Given the description of an element on the screen output the (x, y) to click on. 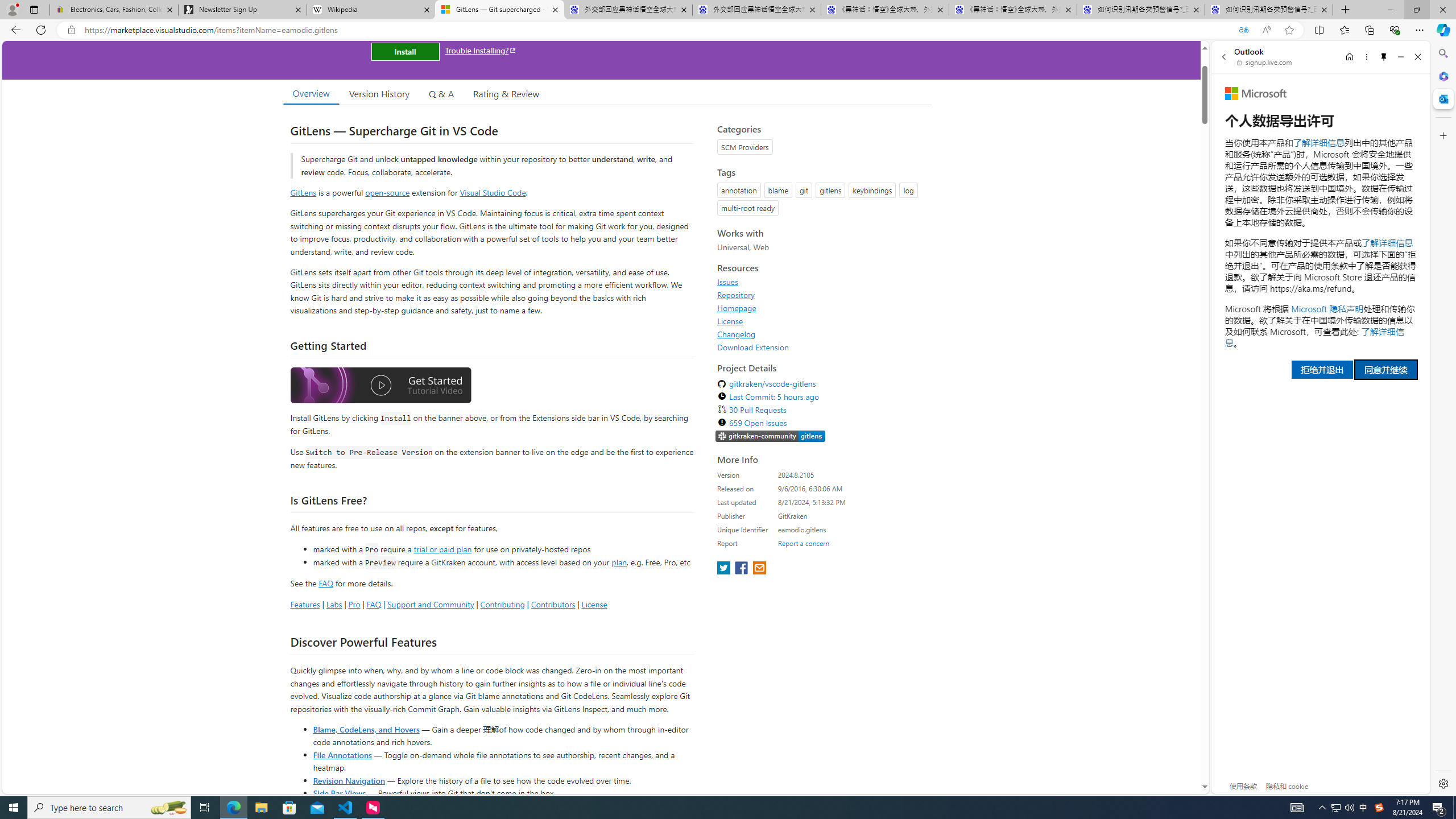
Install (405, 51)
open-source (387, 192)
https://slack.gitkraken.com// (769, 436)
Microsoft (1255, 93)
Pro (354, 603)
share extension on twitter (724, 568)
Contributors (552, 603)
